Given the description of an element on the screen output the (x, y) to click on. 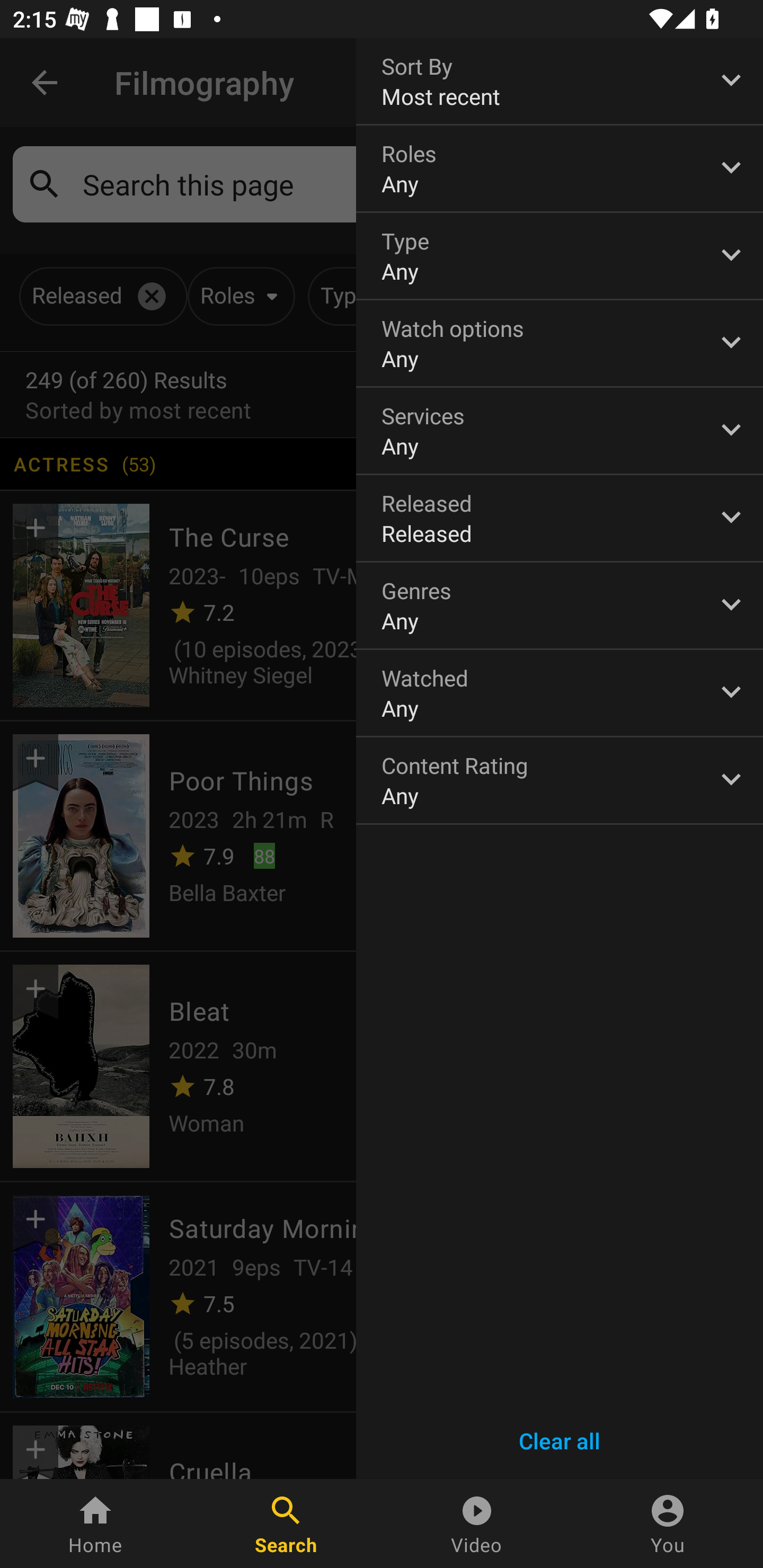
Roles Any (559, 168)
Type Any (559, 256)
Watch options Any (559, 343)
Services Any (559, 430)
Released (559, 518)
Genres Any (559, 605)
Watched Any (559, 692)
Content Rating Any (559, 779)
Home (95, 1523)
Video (476, 1523)
You (667, 1523)
